Given the description of an element on the screen output the (x, y) to click on. 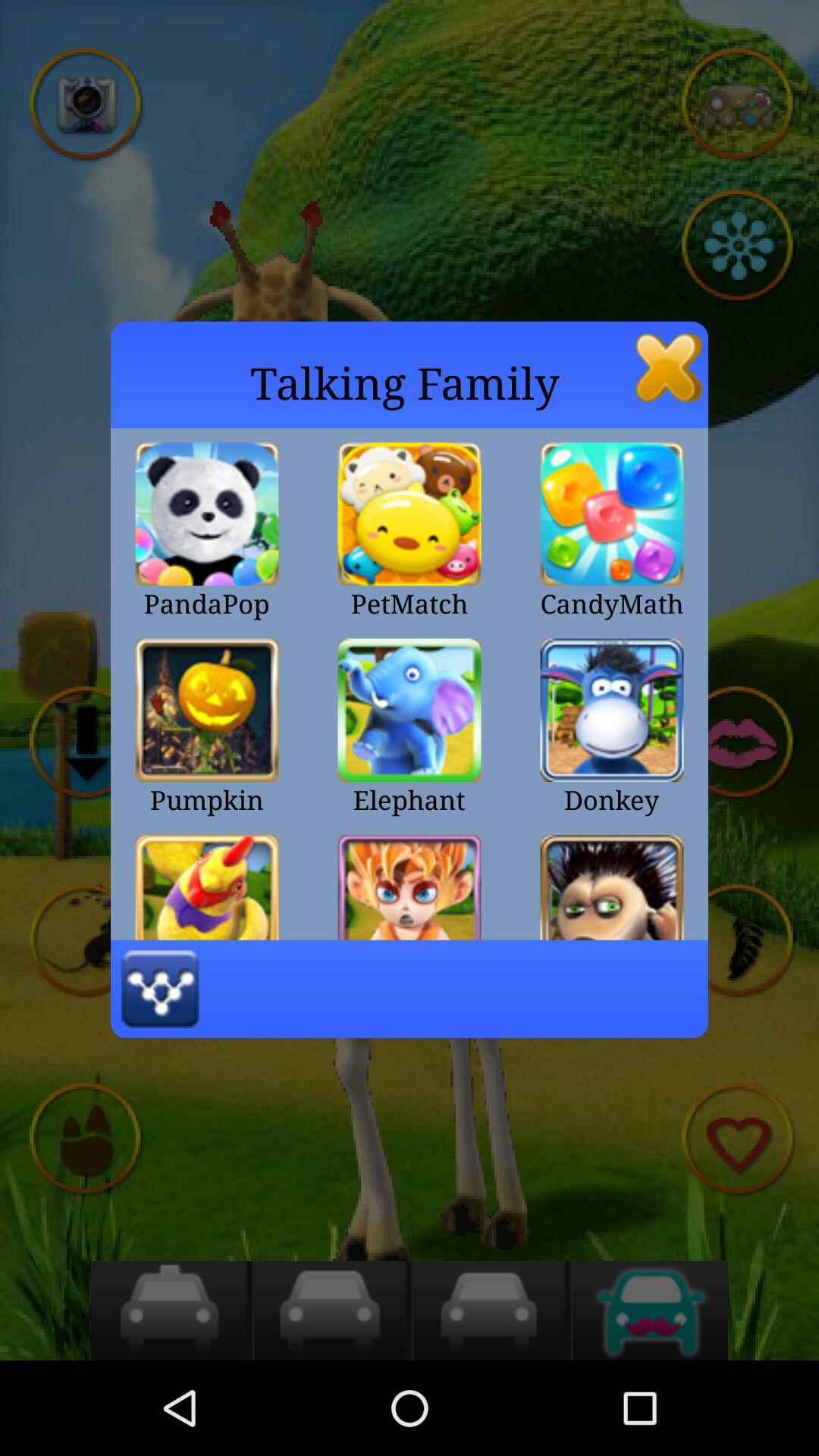
exit (668, 367)
